Given the description of an element on the screen output the (x, y) to click on. 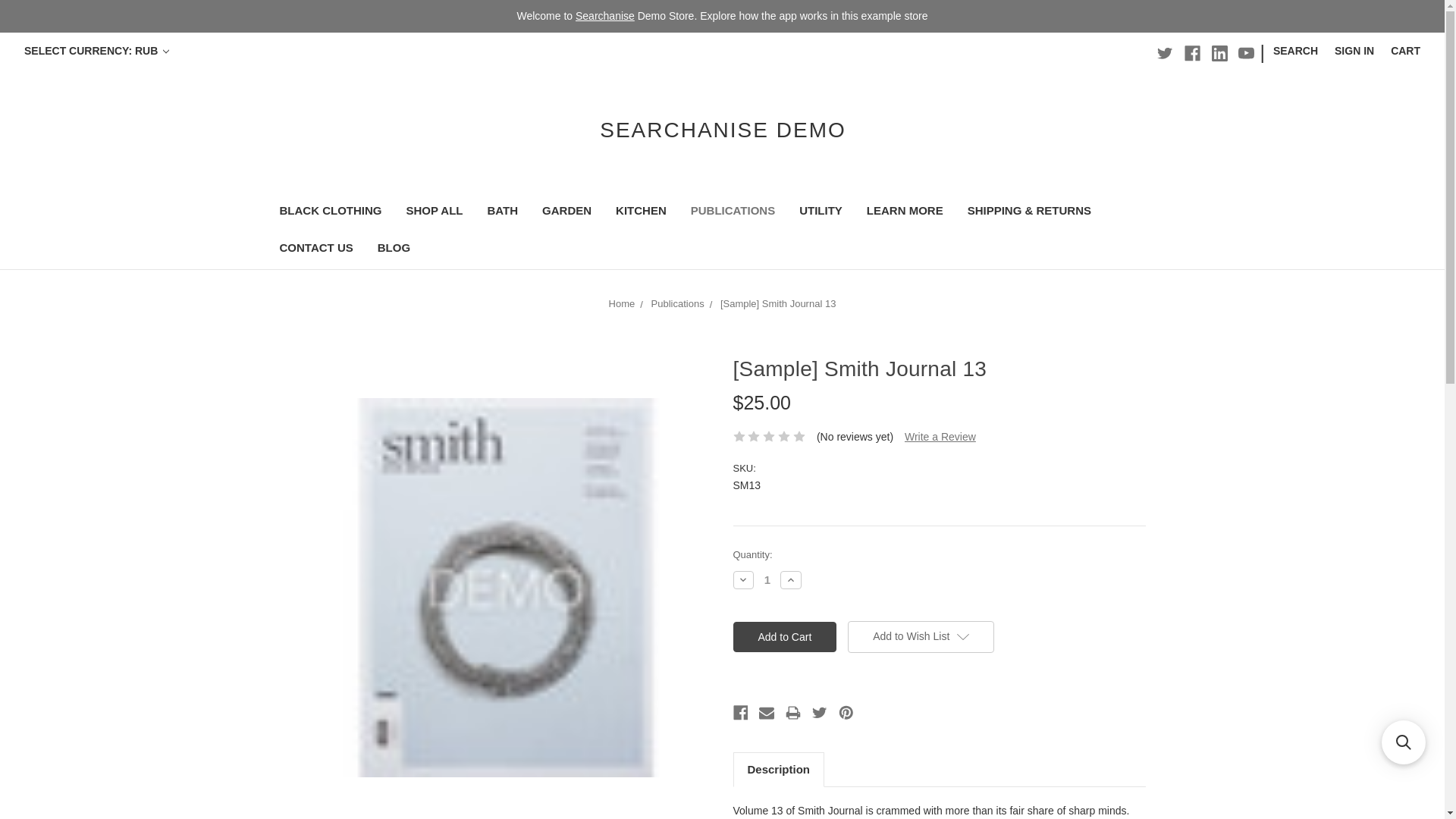
SELECT CURRENCY: RUB (96, 50)
Searchanise (604, 15)
SIGN IN (1353, 50)
SHOP ALL (435, 212)
CART (1404, 50)
KITCHEN (641, 212)
LEARN MORE (904, 212)
Add to Cart (783, 636)
Home (621, 303)
CONTACT US (315, 249)
UTILITY (820, 212)
BATH (503, 212)
1 (767, 579)
PUBLICATIONS (732, 212)
BLACK CLOTHING (329, 212)
